Given the description of an element on the screen output the (x, y) to click on. 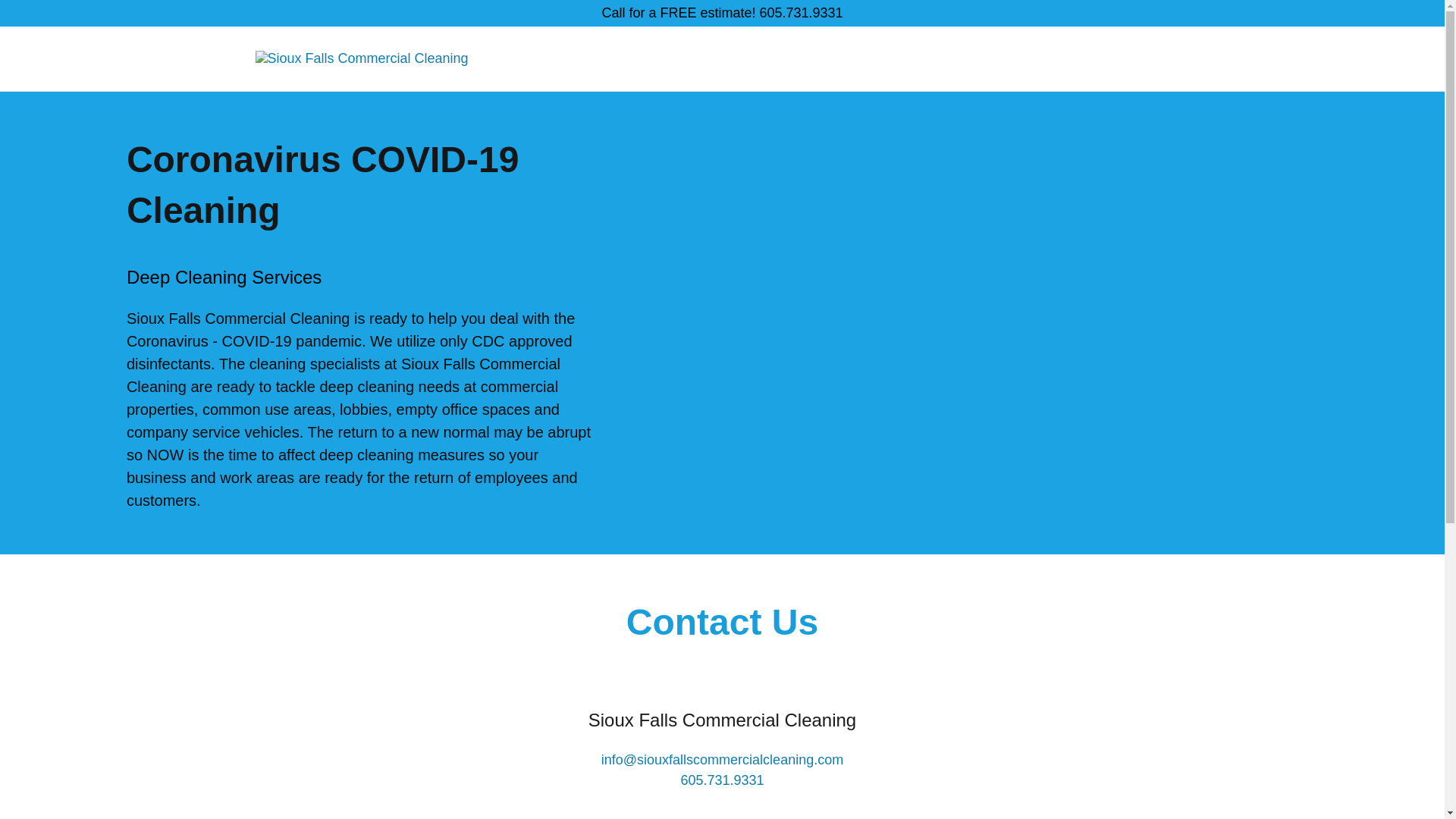
Sioux Falls Commercial Cleaning (360, 58)
